Given the description of an element on the screen output the (x, y) to click on. 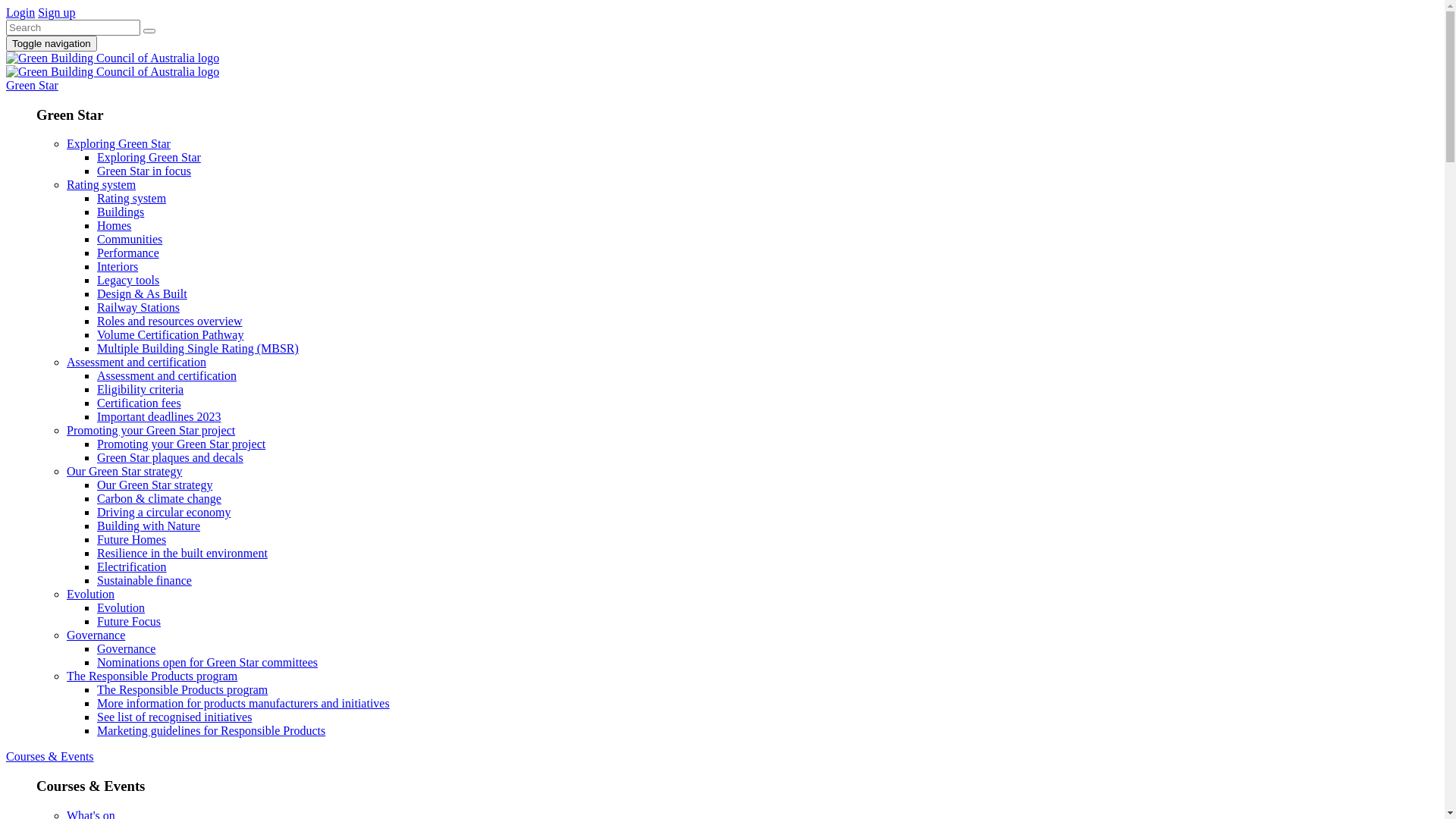
Building with Nature Element type: text (148, 525)
Evolution Element type: text (120, 607)
Evolution Element type: text (752, 594)
Eligibility criteria Element type: text (140, 388)
Future Homes Element type: text (131, 539)
Promoting your Green Star project Element type: text (181, 443)
Legacy tools Element type: text (128, 279)
Exploring Green Star Element type: text (752, 143)
Future Focus Element type: text (128, 621)
The Responsible Products program Element type: text (752, 676)
More information for products manufacturers and initiatives Element type: text (243, 702)
Performance Element type: text (128, 252)
Rating system Element type: text (131, 197)
Buildings Element type: text (120, 211)
Login Element type: text (20, 12)
Assessment and certification Element type: text (752, 362)
Communities Element type: text (129, 238)
Governance Element type: text (752, 635)
Green Star Element type: text (32, 84)
Promoting your Green Star project Element type: text (752, 430)
See list of recognised initiatives Element type: text (174, 716)
Rating system Element type: text (752, 184)
Important deadlines 2023 Element type: text (159, 416)
Driving a circular economy Element type: text (163, 511)
Electrification Element type: text (131, 566)
Green Star in focus Element type: text (144, 170)
Exploring Green Star Element type: text (148, 156)
Assessment and certification Element type: text (166, 375)
Resilience in the built environment Element type: text (182, 552)
Marketing guidelines for Responsible Products Element type: text (211, 730)
Volume Certification Pathway Element type: text (170, 334)
Governance Element type: text (126, 648)
Railway Stations Element type: text (138, 307)
Sustainable finance Element type: text (144, 580)
Our Green Star strategy Element type: text (154, 484)
Multiple Building Single Rating (MBSR) Element type: text (197, 348)
Design & As Built Element type: text (142, 293)
Carbon & climate change Element type: text (159, 498)
Homes Element type: text (114, 225)
Roles and resources overview Element type: text (169, 320)
Sign up Element type: text (56, 12)
Our Green Star strategy Element type: text (752, 471)
Interiors Element type: text (117, 266)
The Responsible Products program Element type: text (182, 689)
Certification fees Element type: text (139, 402)
Toggle navigation Element type: text (51, 43)
Nominations open for Green Star committees Element type: text (207, 661)
Green Star plaques and decals Element type: text (170, 457)
Courses & Events Element type: text (50, 755)
